Given the description of an element on the screen output the (x, y) to click on. 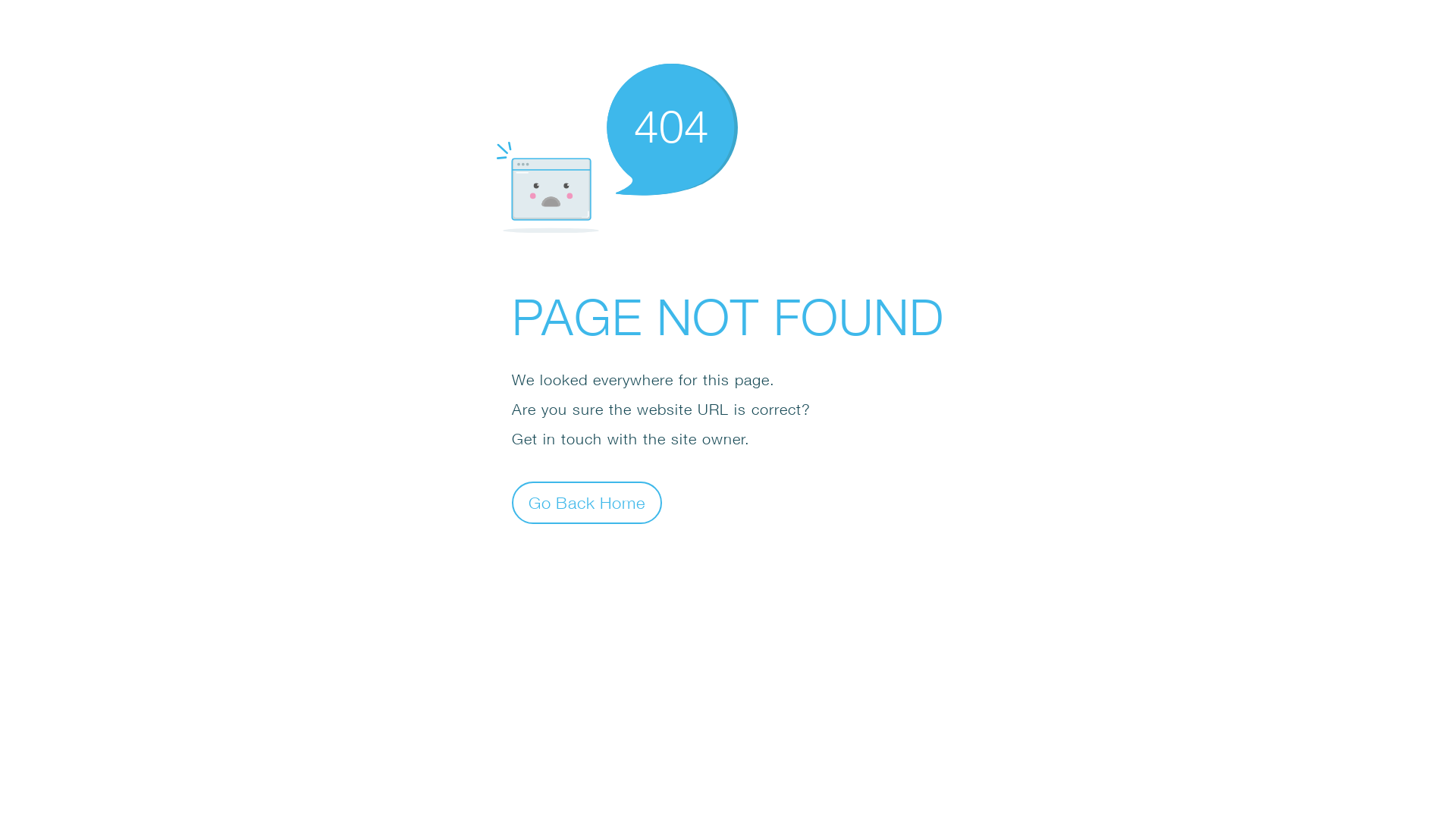
Go Back Home Element type: text (586, 502)
